Given the description of an element on the screen output the (x, y) to click on. 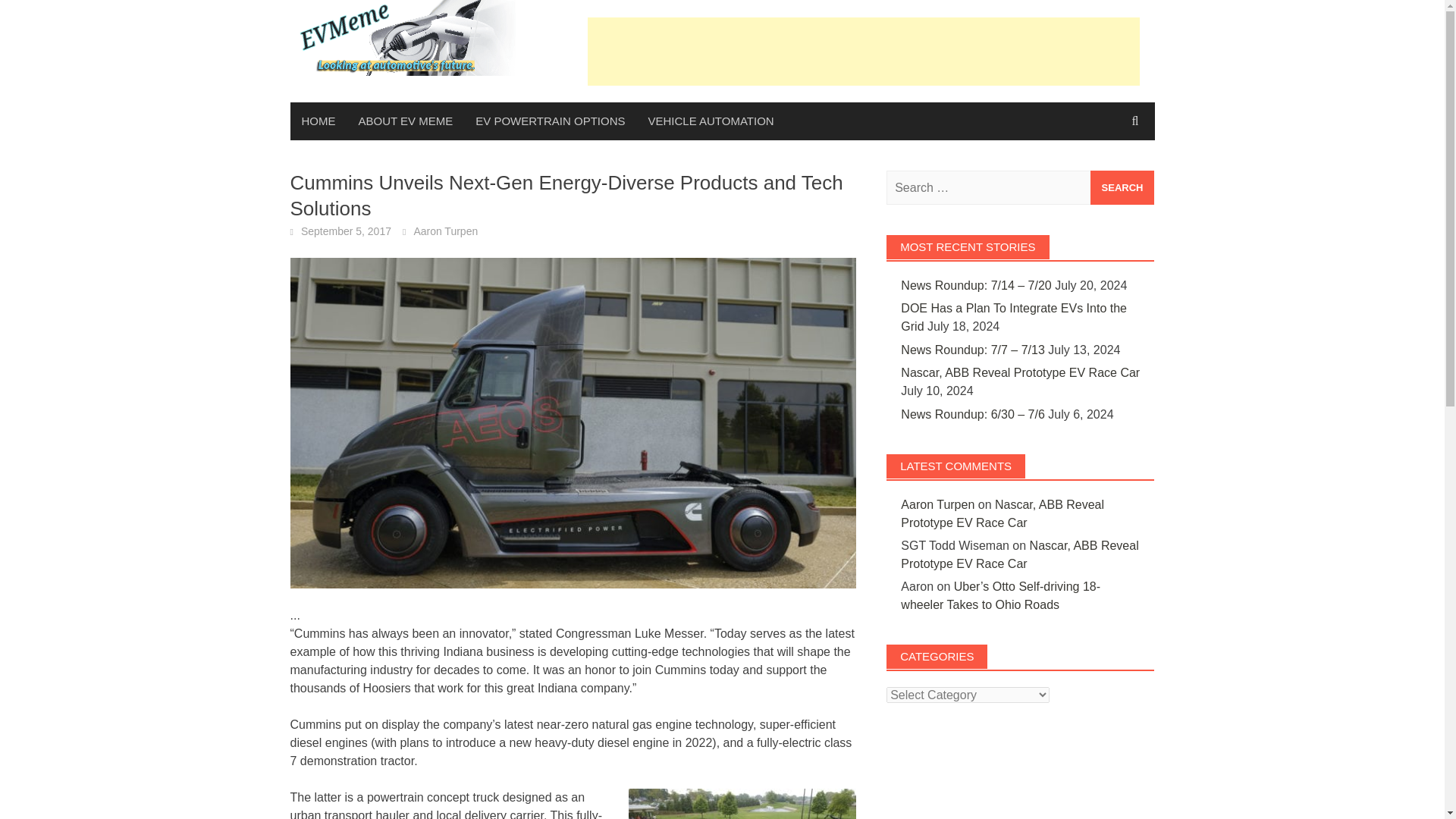
Nascar, ABB Reveal Prototype EV Race Car (1020, 372)
Search (1122, 187)
EV POWERTRAIN OPTIONS (550, 121)
Search (1122, 187)
Aaron Turpen (445, 231)
HOME (317, 121)
Nascar, ABB Reveal Prototype EV Race Car (1002, 513)
ABOUT EV MEME (405, 121)
Nascar, ABB Reveal Prototype EV Race Car (1019, 554)
Advertisement (862, 50)
Search (1122, 187)
Aaron Turpen (937, 504)
September 5, 2017 (346, 231)
VEHICLE AUTOMATION (711, 121)
DOE Has a Plan To Integrate EVs Into the Grid (1013, 317)
